Given the description of an element on the screen output the (x, y) to click on. 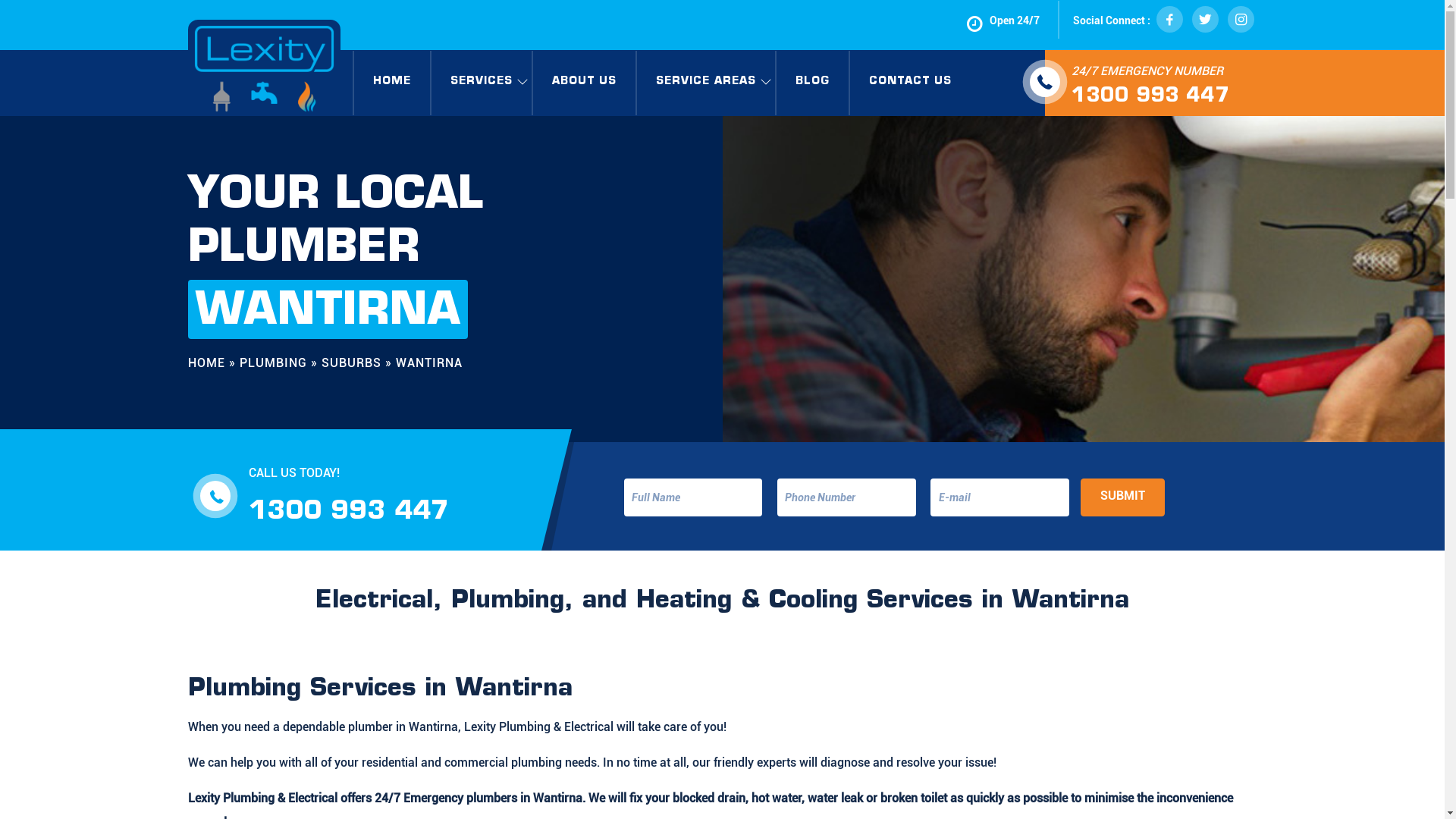
BLOG Element type: text (812, 81)
HOME Element type: text (206, 362)
SUBMIT Element type: text (1122, 497)
Facebook Element type: hover (1170, 19)
SUBURBS Element type: text (351, 362)
HOME Element type: text (391, 81)
CONTACT US Element type: text (909, 81)
Instagram Element type: hover (1239, 19)
SERVICE AREAS Element type: text (706, 81)
SERVICES Element type: text (480, 81)
ABOUT US Element type: text (583, 81)
Lexity Element type: hover (264, 67)
PLUMBING Element type: text (273, 362)
Twitter Element type: hover (1206, 19)
1300 993 447 Element type: text (1149, 96)
1300 993 447 Element type: text (348, 511)
